Given the description of an element on the screen output the (x, y) to click on. 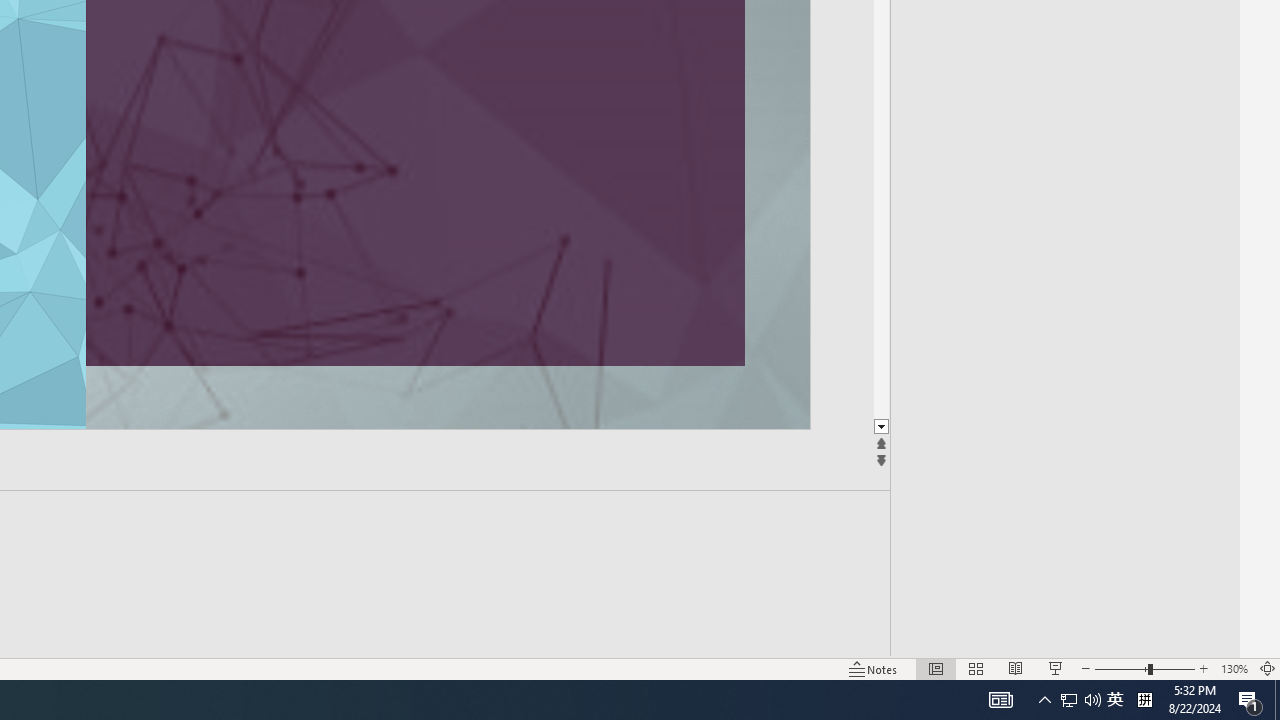
Zoom 130% (1234, 668)
Notes  (874, 668)
Line down (880, 427)
